Given the description of an element on the screen output the (x, y) to click on. 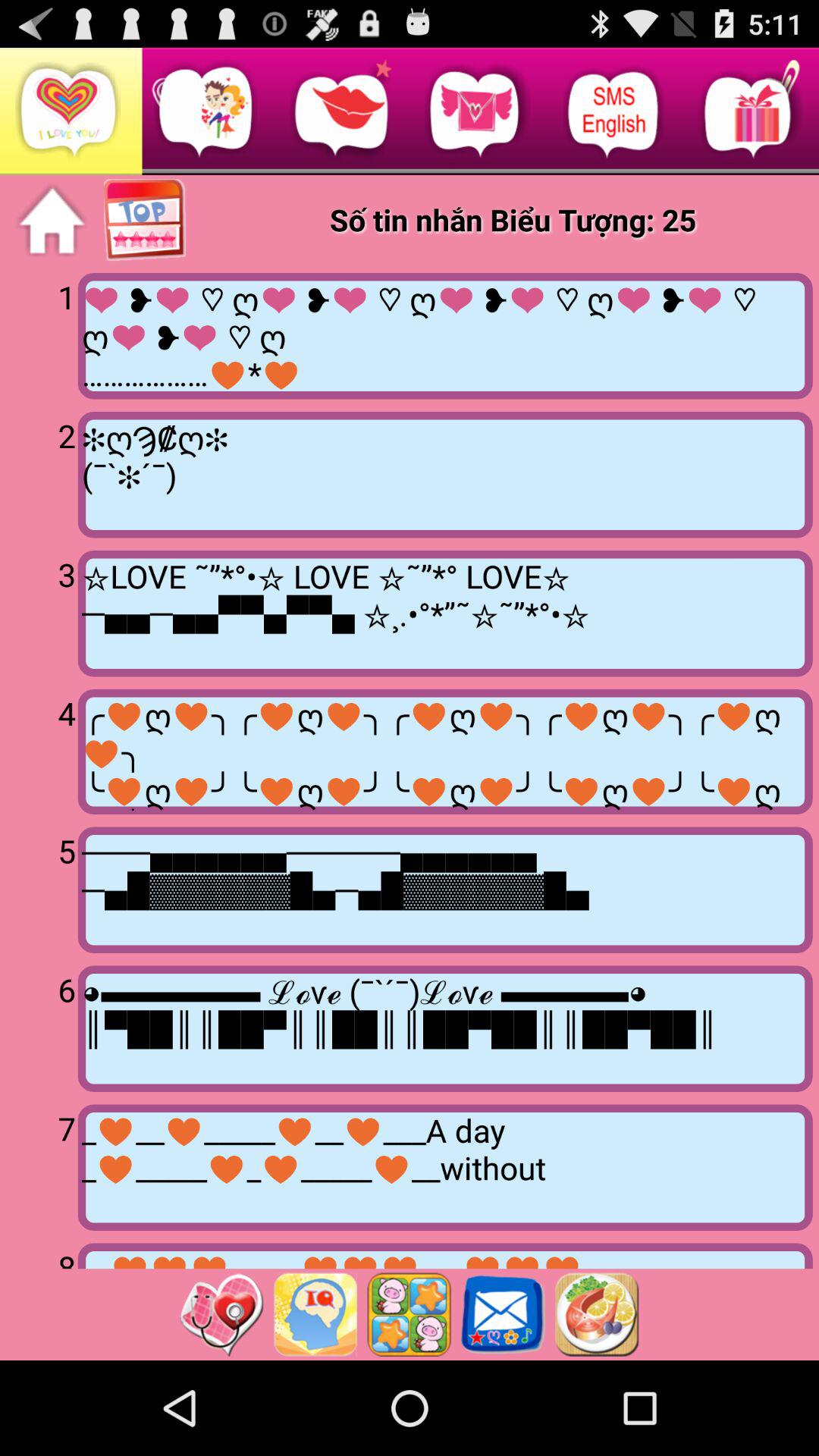
send email (502, 1314)
